Given the description of an element on the screen output the (x, y) to click on. 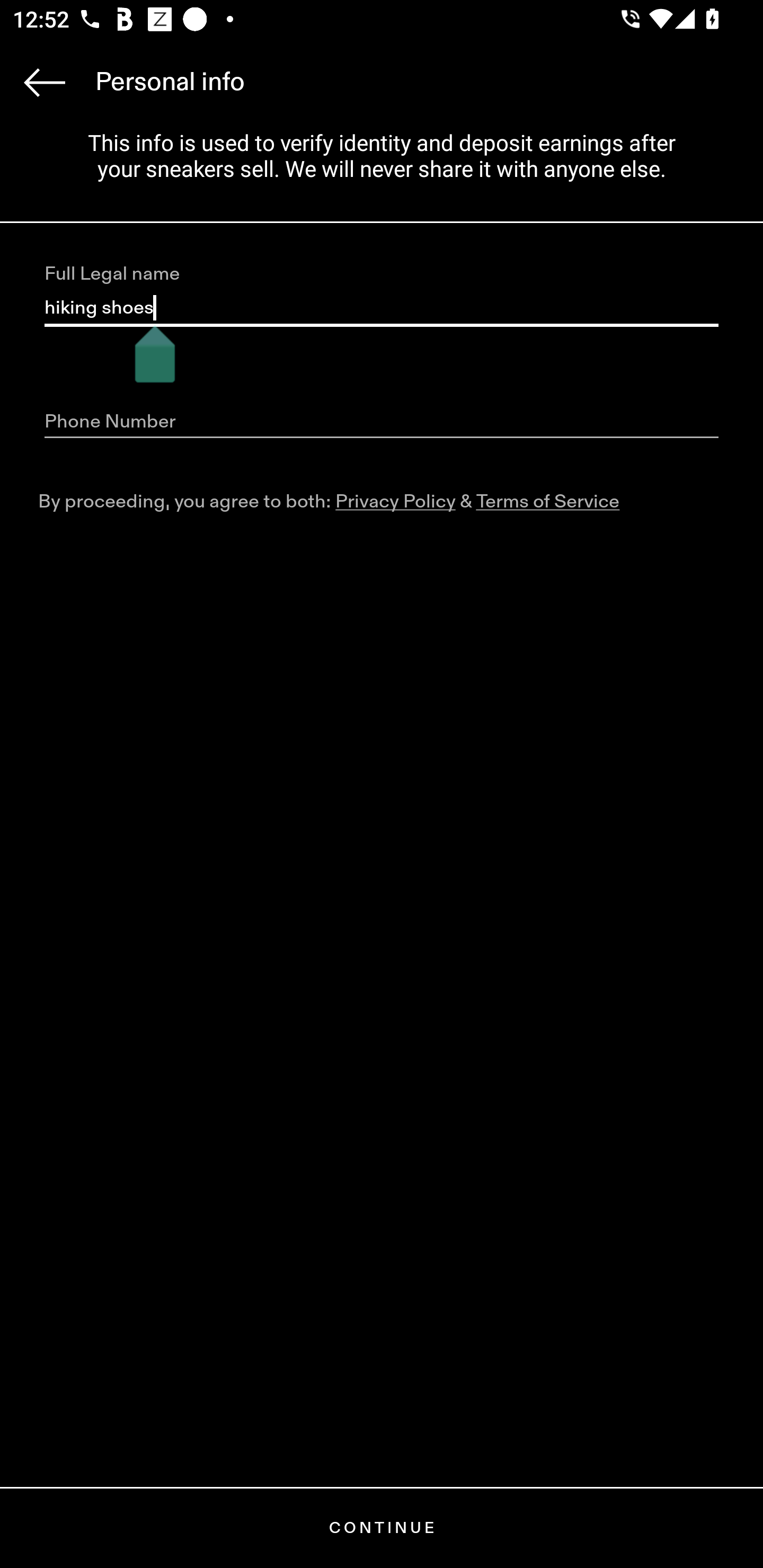
Navigate up (44, 82)
hiking shoes (381, 308)
Phone Number (381, 422)
CONTINUE (381, 1528)
